Given the description of an element on the screen output the (x, y) to click on. 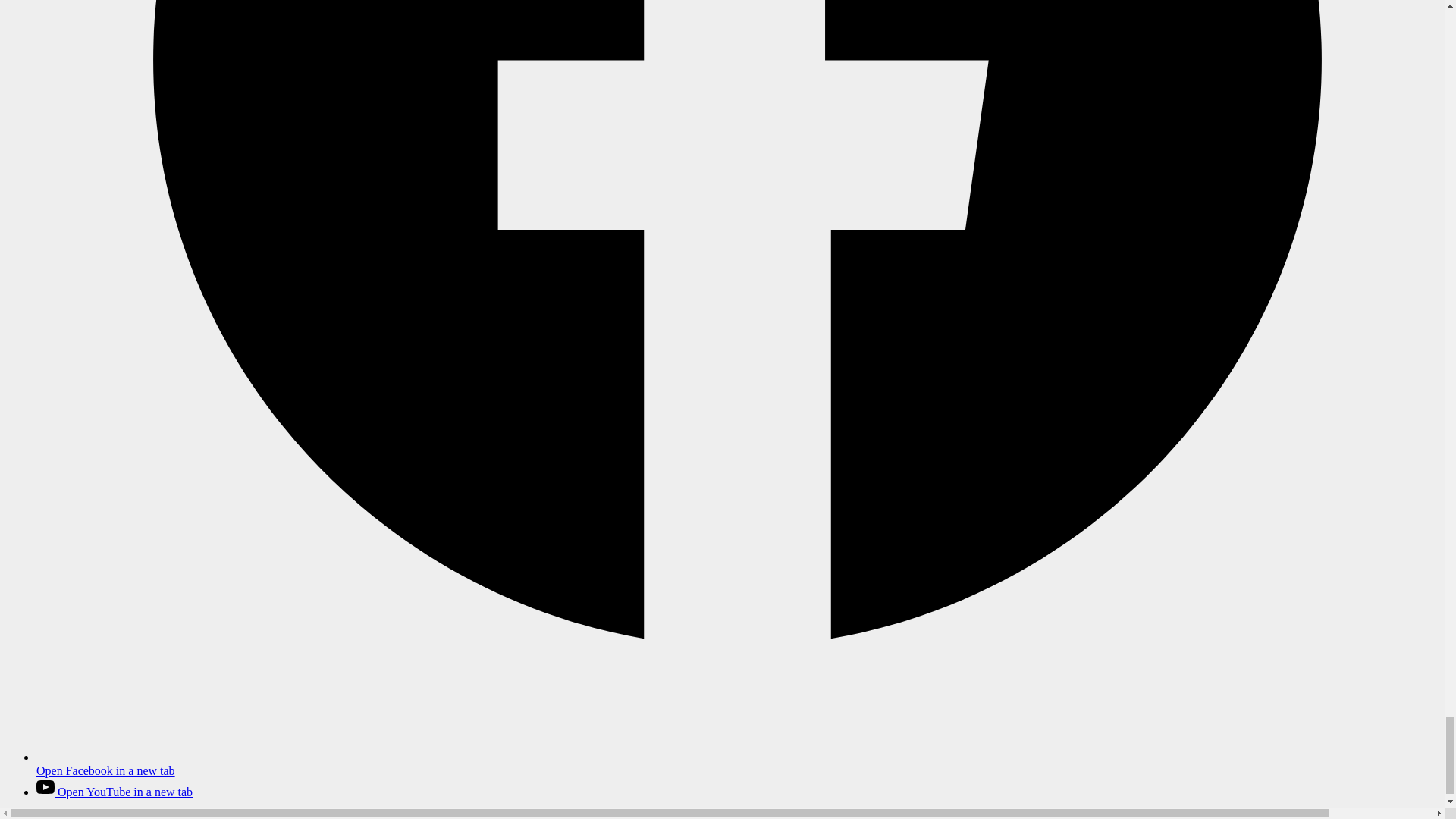
Open YouTube in a new tab (114, 791)
Open Facebook in a new tab (737, 764)
